Given the description of an element on the screen output the (x, y) to click on. 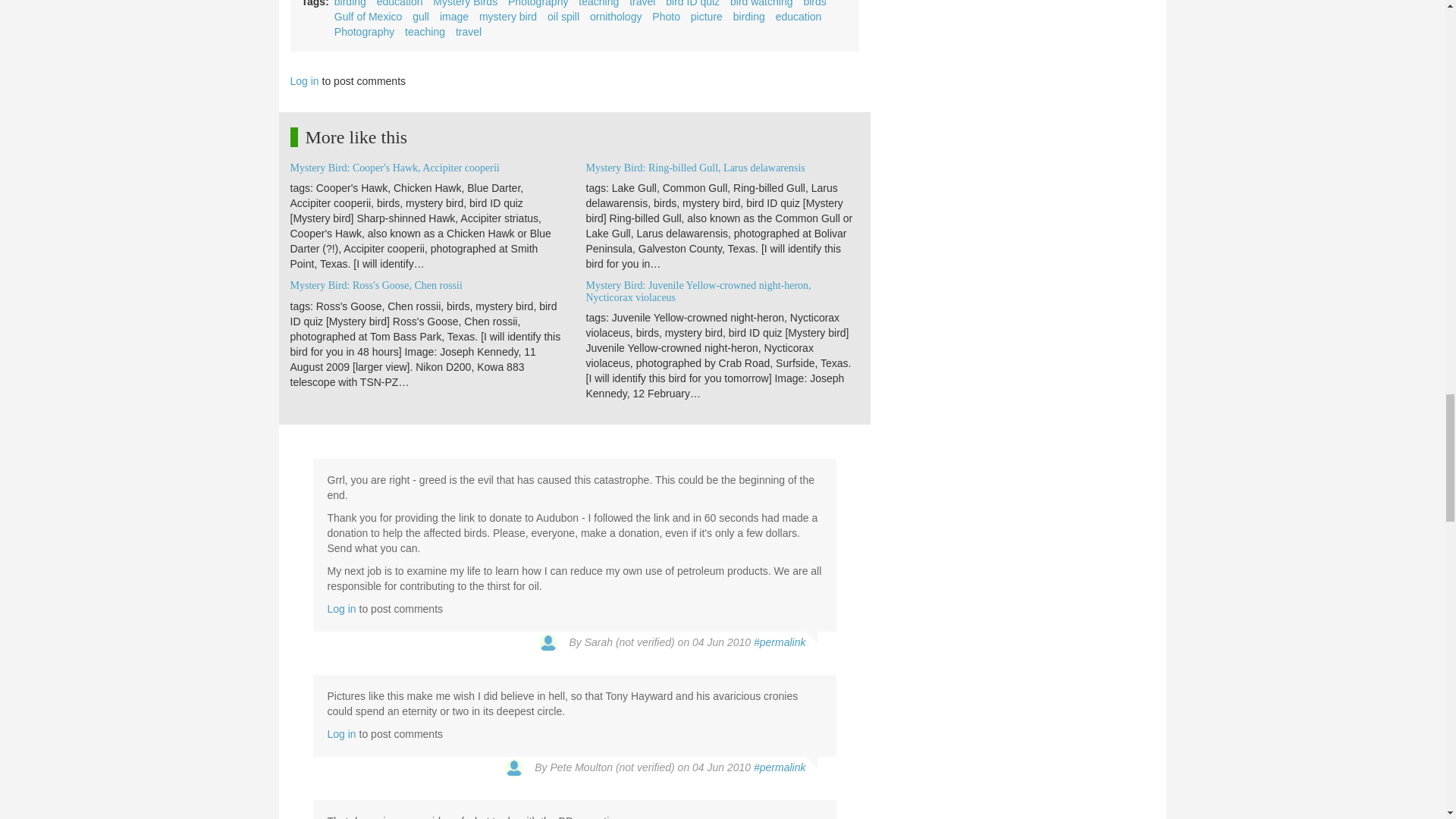
birding (350, 3)
education (400, 3)
